Given the description of an element on the screen output the (x, y) to click on. 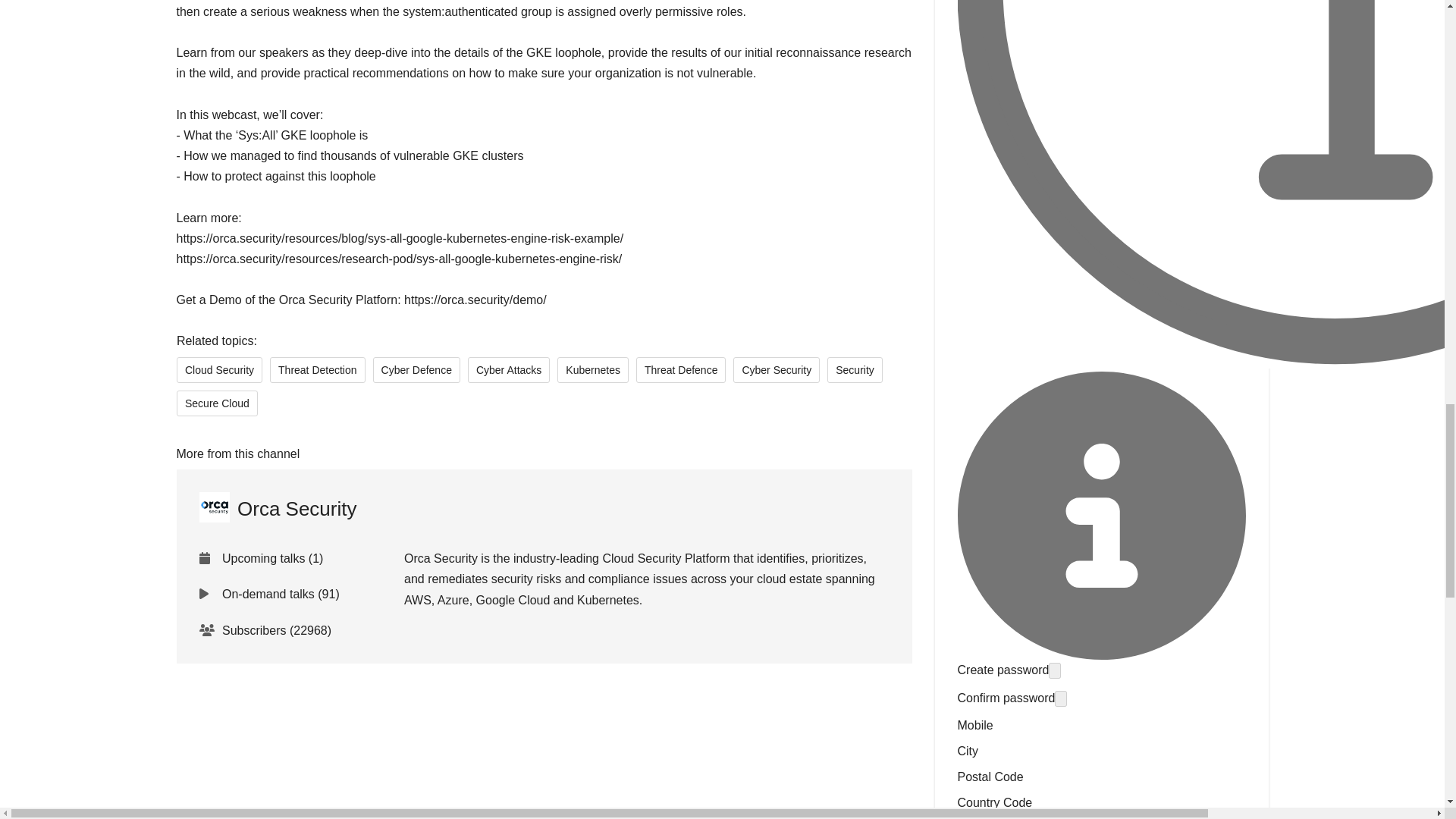
Cyber Defence (416, 369)
Cyber Security (776, 369)
Threat Defence (679, 369)
Cloud Security (219, 369)
Visit Orca Security's channel (277, 508)
Threat Detection (317, 369)
Secure Cloud (216, 402)
Kubernetes (592, 369)
Cyber Attacks (507, 369)
Security (854, 369)
